Given the description of an element on the screen output the (x, y) to click on. 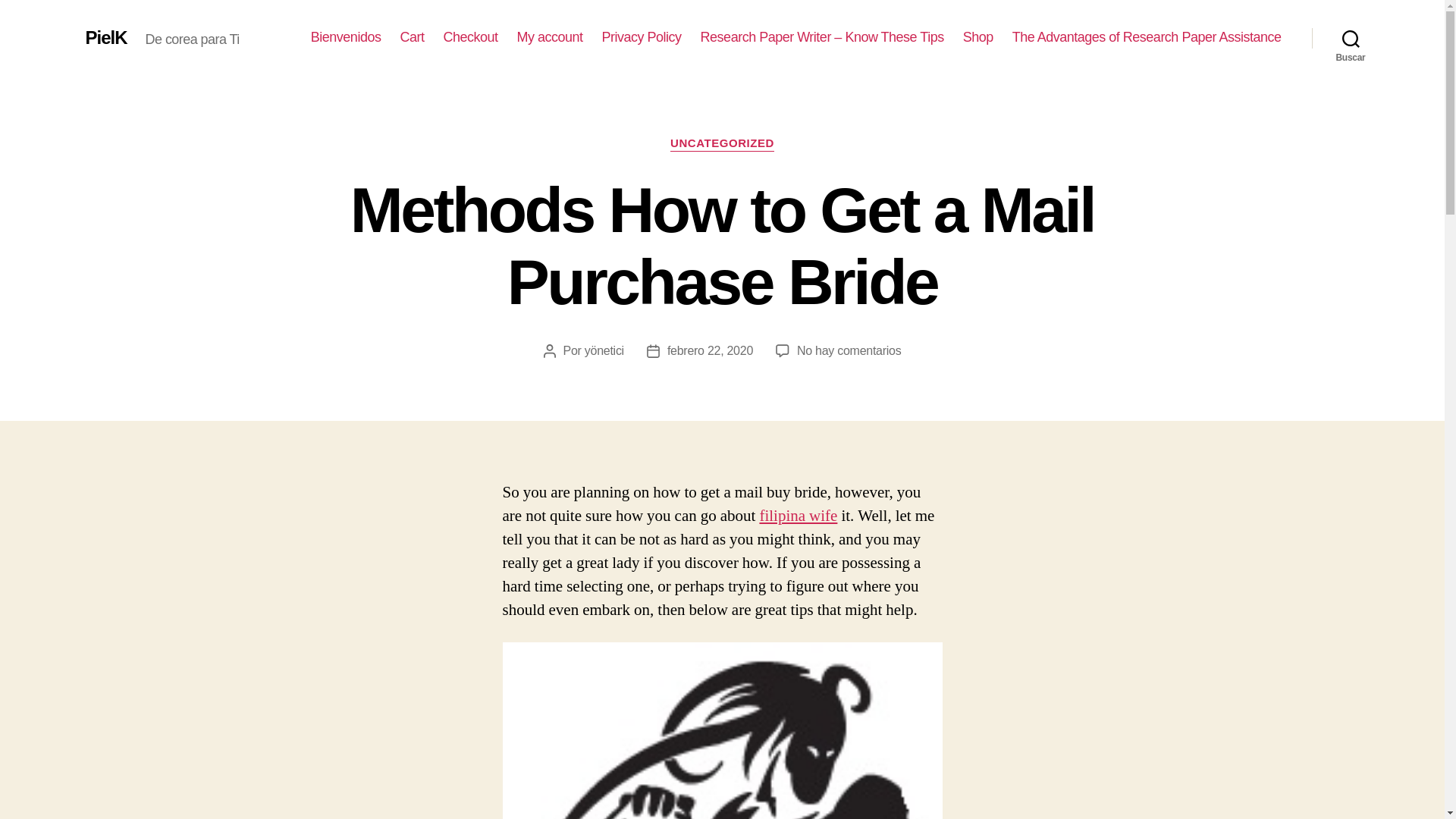
Shop (977, 37)
Privacy Policy (641, 37)
filipina wife (797, 516)
The Advantages of Research Paper Assistance (1146, 37)
UNCATEGORIZED (721, 143)
My account (549, 37)
PielK (105, 37)
Checkout (469, 37)
febrero 22, 2020 (709, 350)
Bienvenidos (346, 37)
Cart (410, 37)
Buscar (1350, 37)
